Given the description of an element on the screen output the (x, y) to click on. 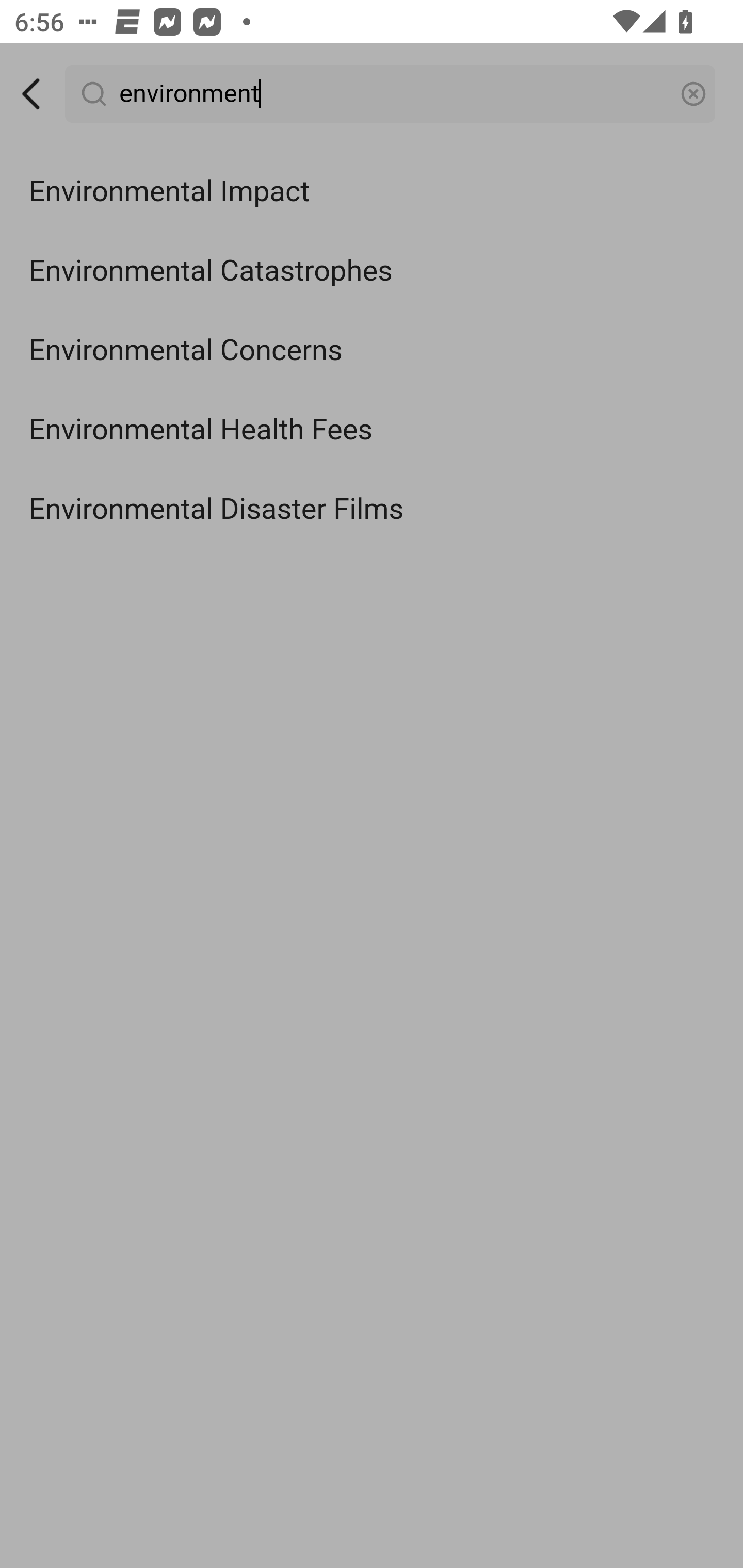
environment (390, 93)
Environmental Impact (371, 192)
Environmental Catastrophes (371, 270)
Environmental Concerns (371, 351)
Environmental Health Fees (371, 430)
Environmental Disaster Films (371, 508)
